Given the description of an element on the screen output the (x, y) to click on. 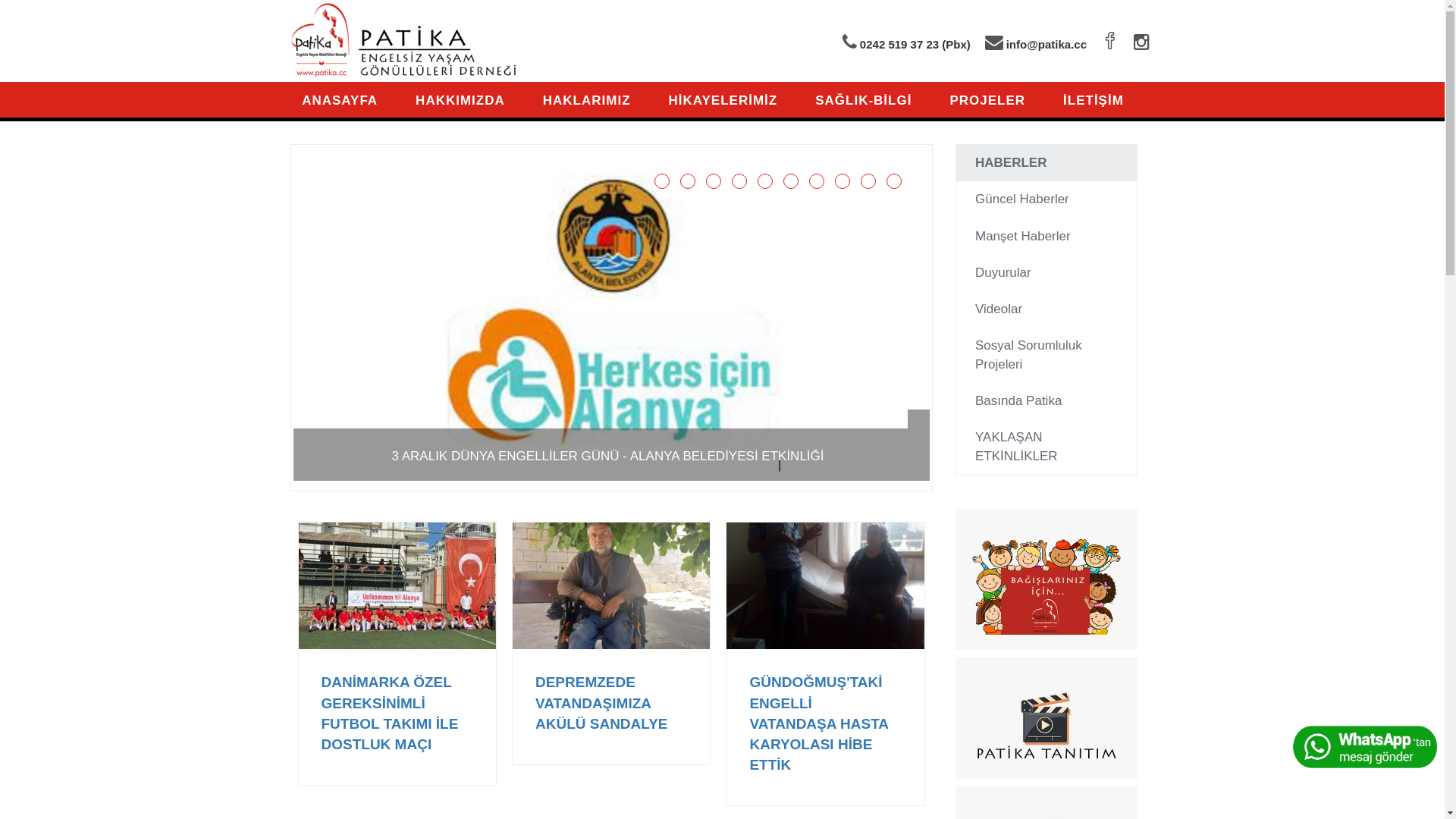
Duyurular Element type: text (1046, 272)
HAKKIMIZDA Element type: text (460, 99)
0242 519 37 23 (Pbx) Element type: text (906, 43)
Sosyal Sorumluluk Projeleri Element type: text (1046, 354)
PROJELER Element type: text (987, 99)
info@patika.cc Element type: text (1036, 43)
HAKLARIMIZ Element type: text (586, 99)
ANASAYFA Element type: text (348, 99)
Videolar Element type: text (1046, 309)
HABERLER Element type: text (1046, 162)
